Given the description of an element on the screen output the (x, y) to click on. 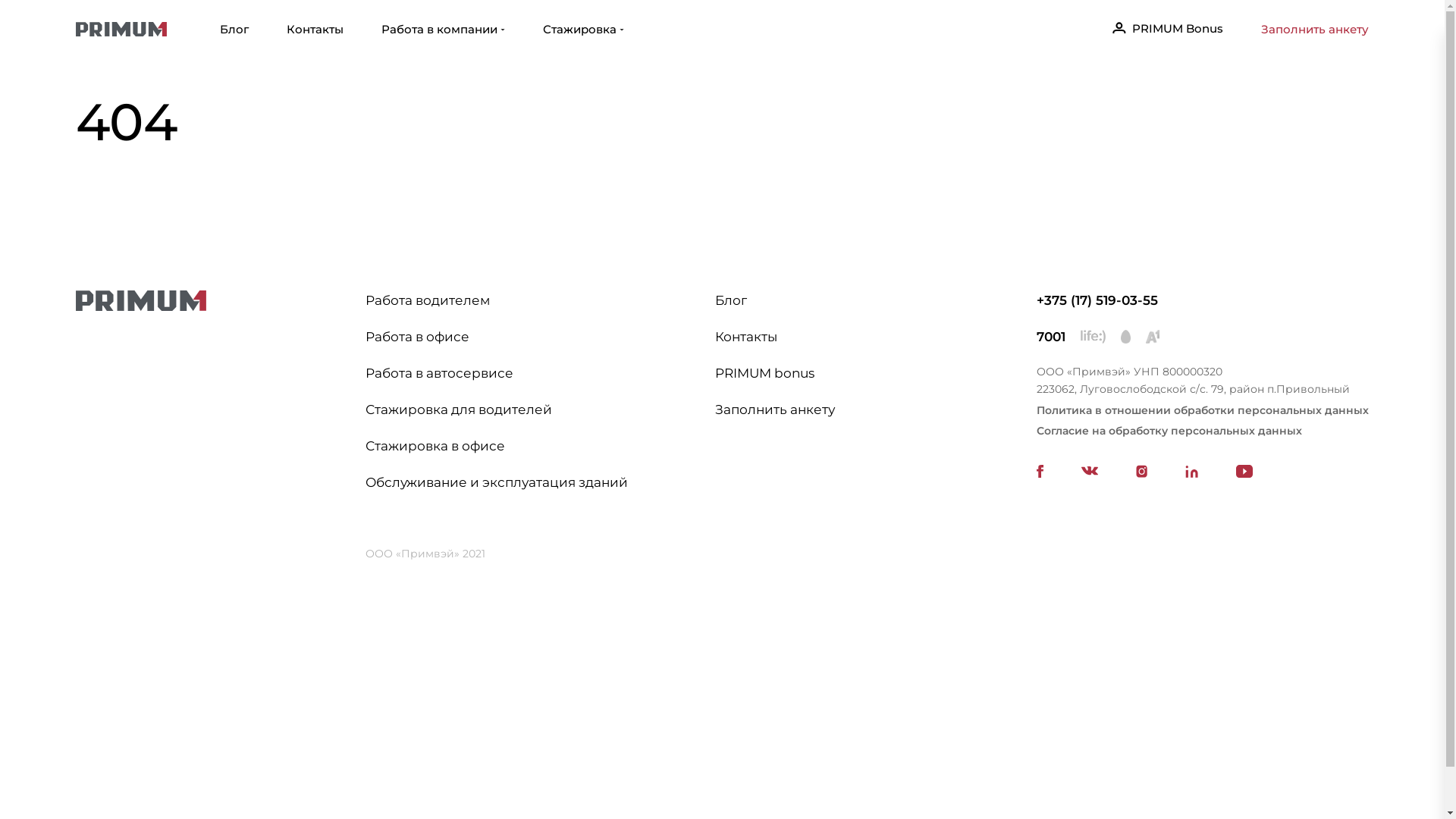
PRIMUM bonus Element type: text (764, 372)
+375 (17) 519-03-55 Element type: text (1096, 299)
7001 Element type: text (1050, 337)
PRIMUM Bonus Element type: text (1167, 28)
